Given the description of an element on the screen output the (x, y) to click on. 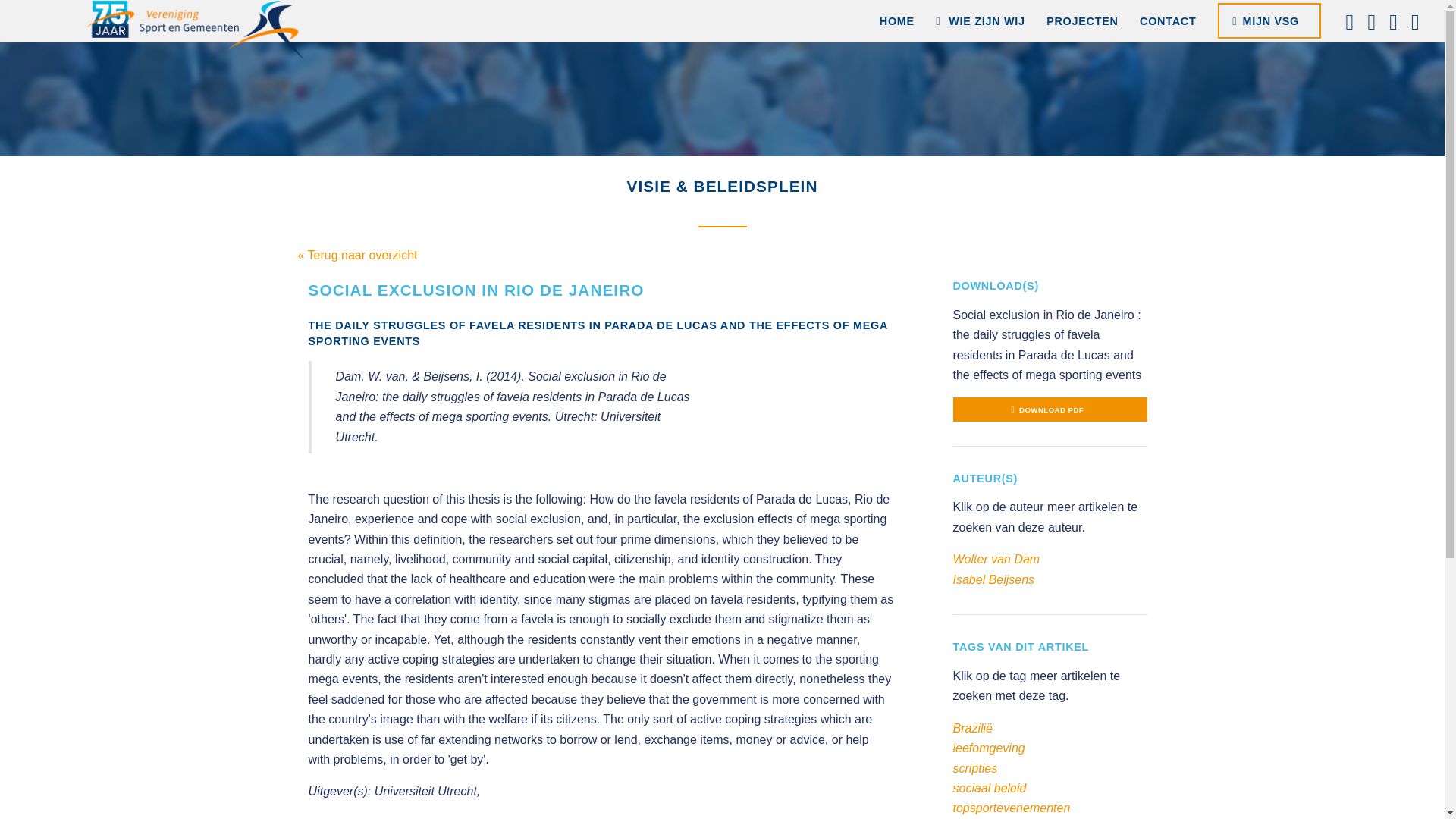
CONTACT (1167, 21)
Download PDF (1049, 408)
sociaal beleid (989, 788)
HOME (896, 21)
WIE ZIJN WIJ (980, 21)
scripties (974, 768)
YouTube (1393, 21)
MIJN VSG (1268, 20)
Wolter van Dam (995, 558)
PROJECTEN (1082, 21)
